Given the description of an element on the screen output the (x, y) to click on. 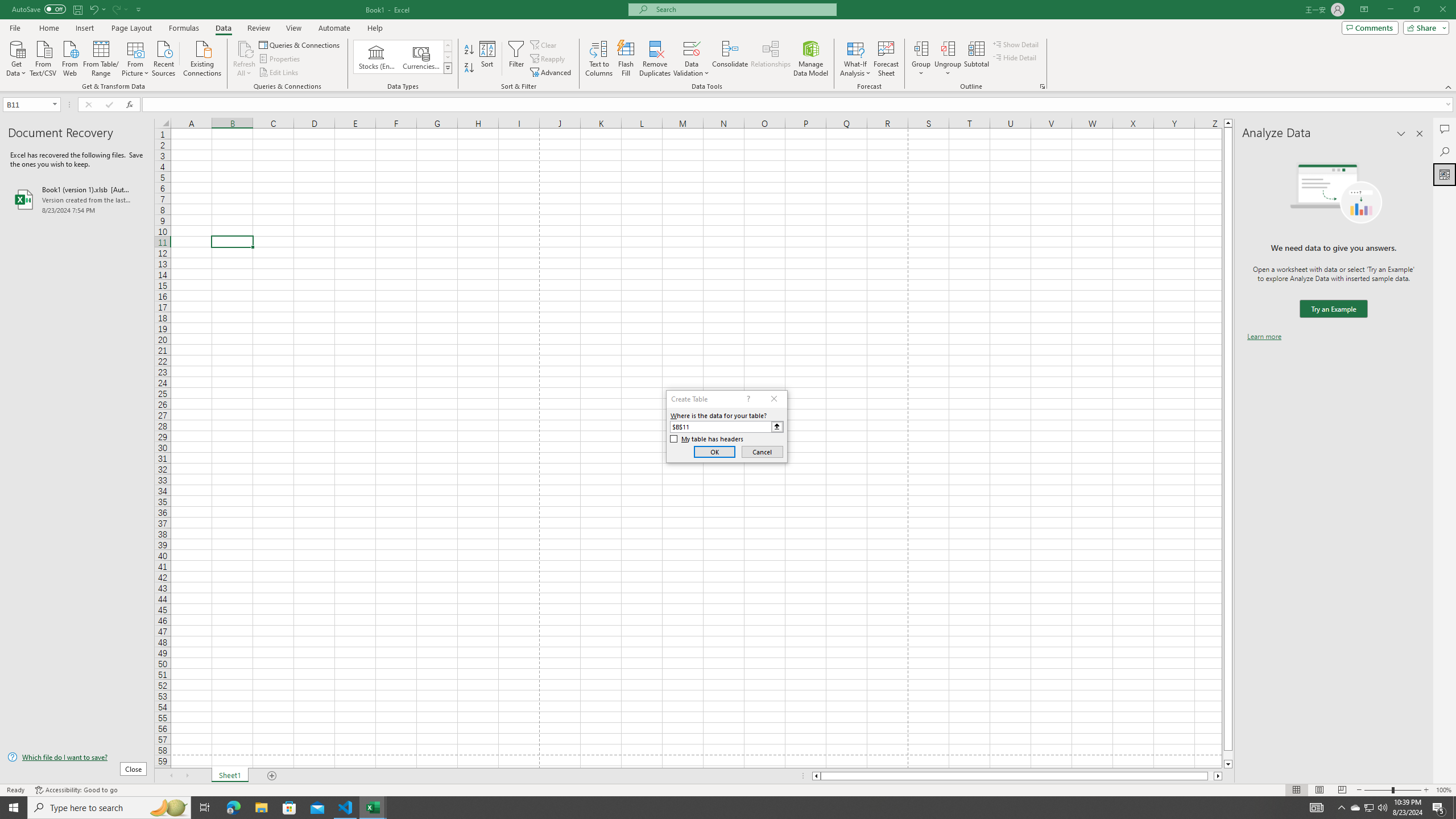
Column left (815, 775)
Page down (1228, 755)
Scroll Left (171, 775)
Help (374, 28)
Clear (544, 44)
Analyze Data (1444, 173)
Data Types (448, 67)
Existing Connections (202, 57)
Data Validation... (691, 58)
Get Data (16, 57)
Row Down (448, 56)
Recent Sources (163, 57)
